Given the description of an element on the screen output the (x, y) to click on. 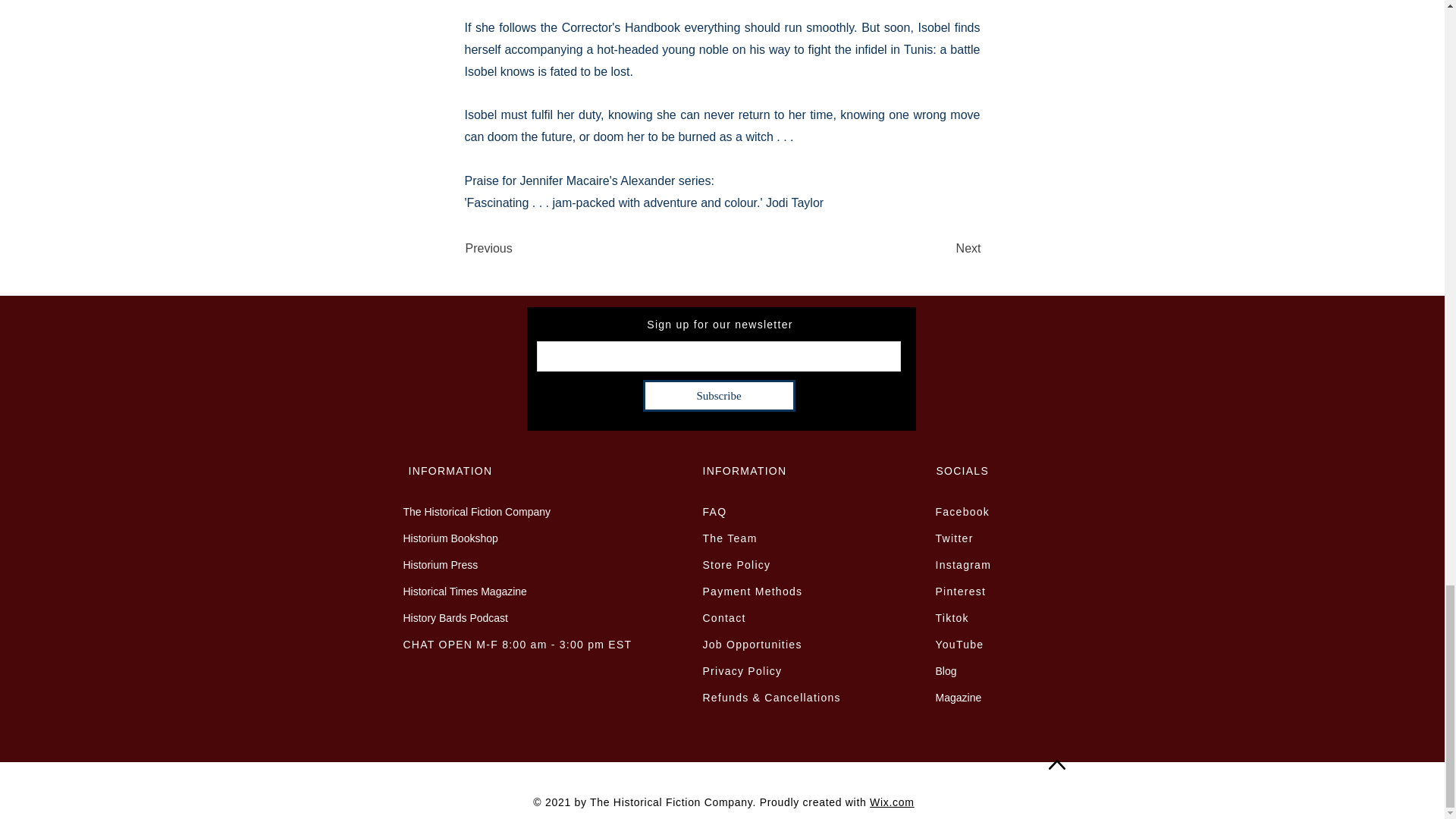
Next (943, 248)
Previous (515, 248)
